Given the description of an element on the screen output the (x, y) to click on. 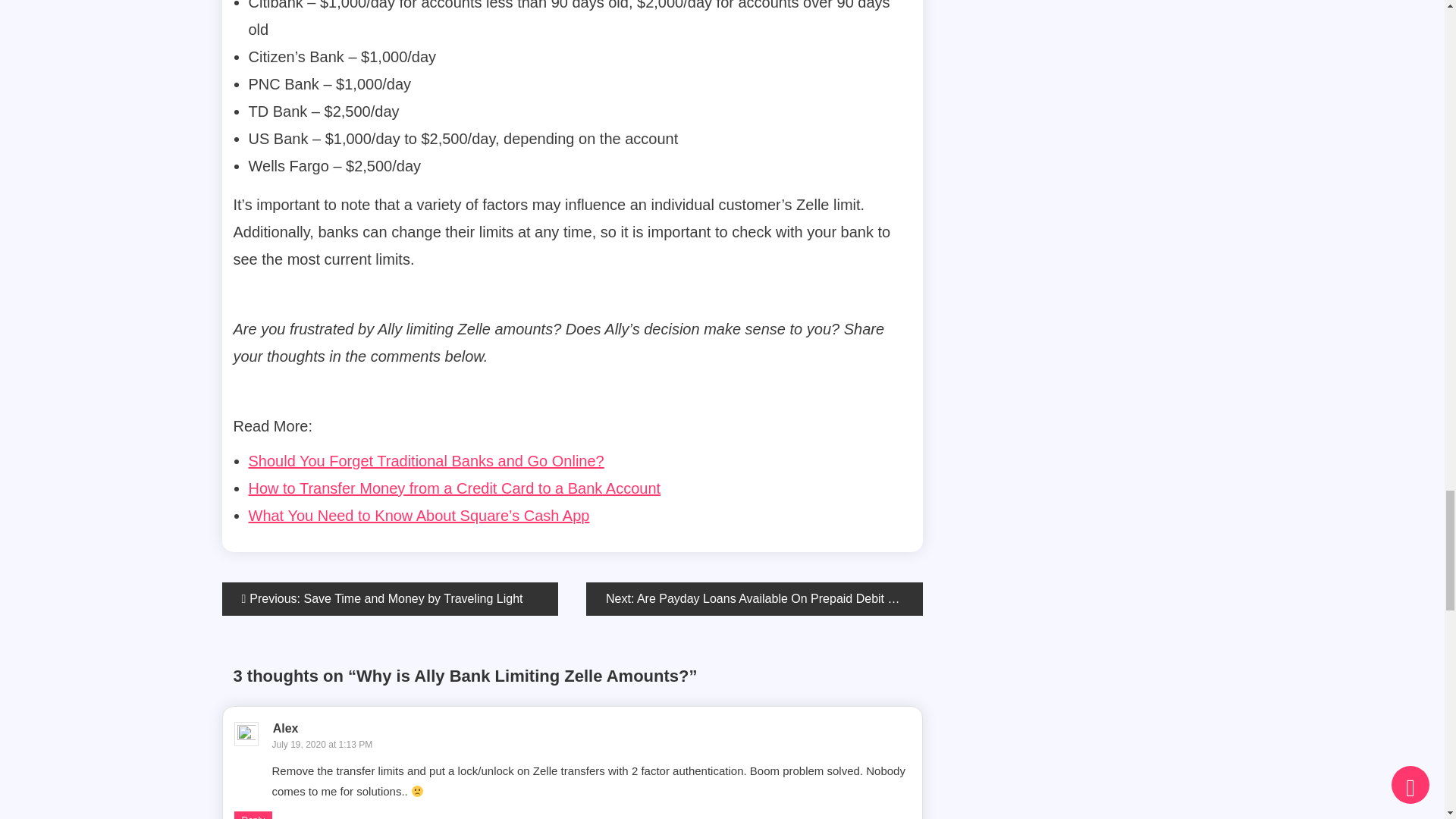
July 19, 2020 at 1:13 PM (321, 744)
Should You Forget Traditional Banks and Go Online? (426, 460)
Next: Are Payday Loans Available On Prepaid Debit Cards (754, 598)
How to Transfer Money from a Credit Card to a Bank Account (454, 487)
Reply (252, 815)
Previous: Save Time and Money by Traveling Light (389, 598)
